Given the description of an element on the screen output the (x, y) to click on. 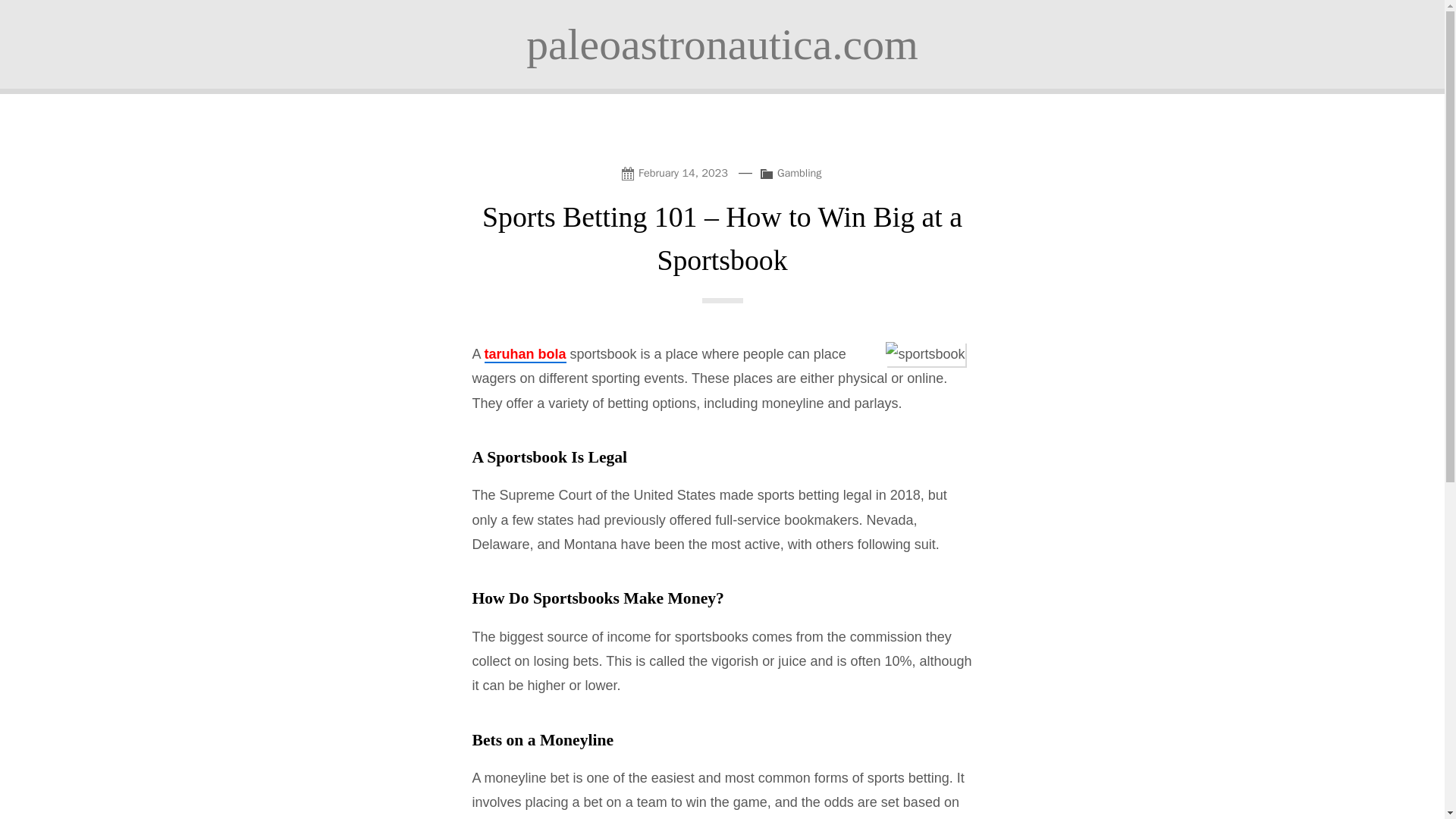
February 14, 2023 (677, 171)
Gambling (799, 172)
taruhan bola (525, 354)
paleoastronautica.com (721, 43)
